Given the description of an element on the screen output the (x, y) to click on. 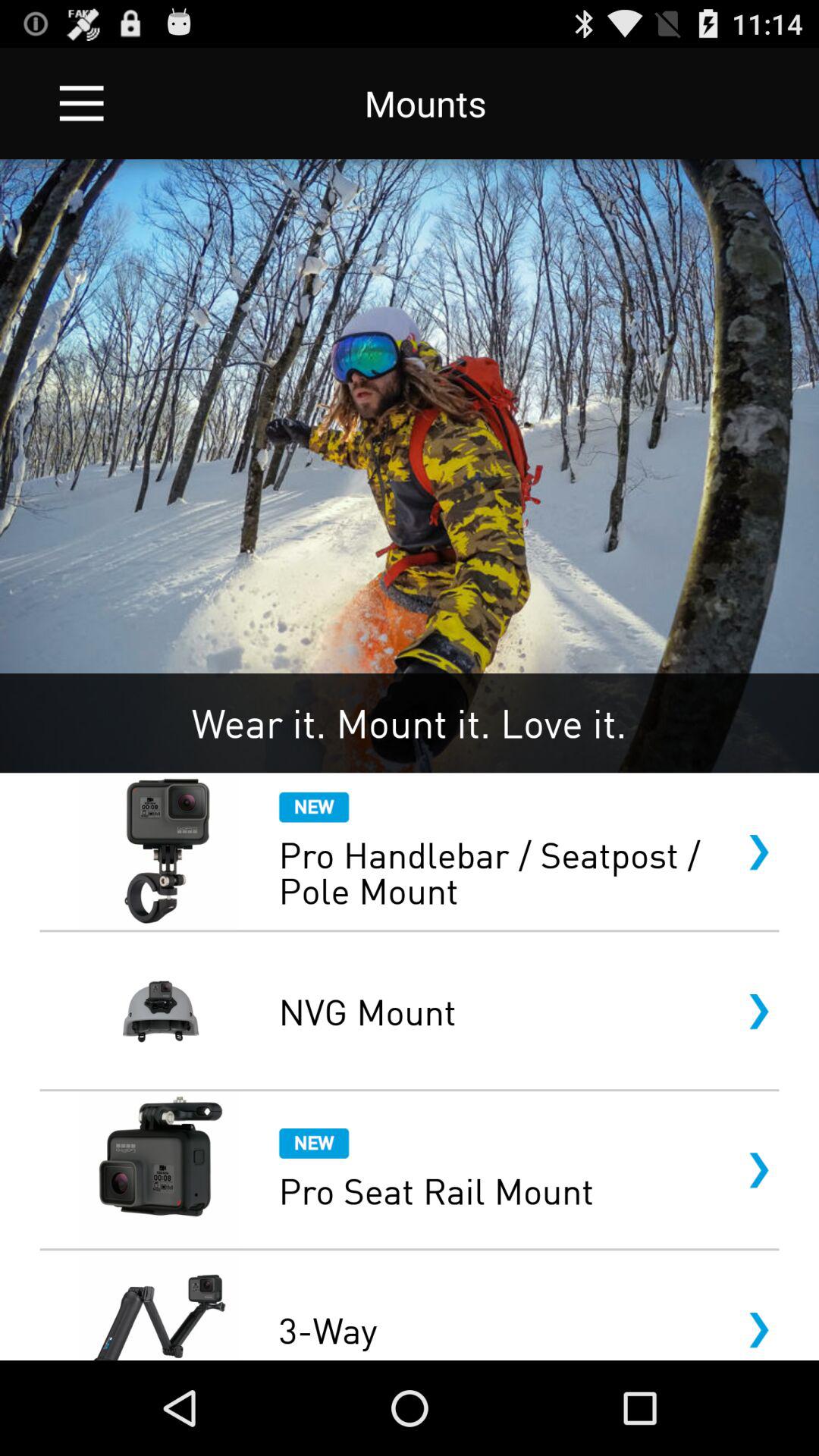
tap the icon at the top left corner (81, 102)
